Given the description of an element on the screen output the (x, y) to click on. 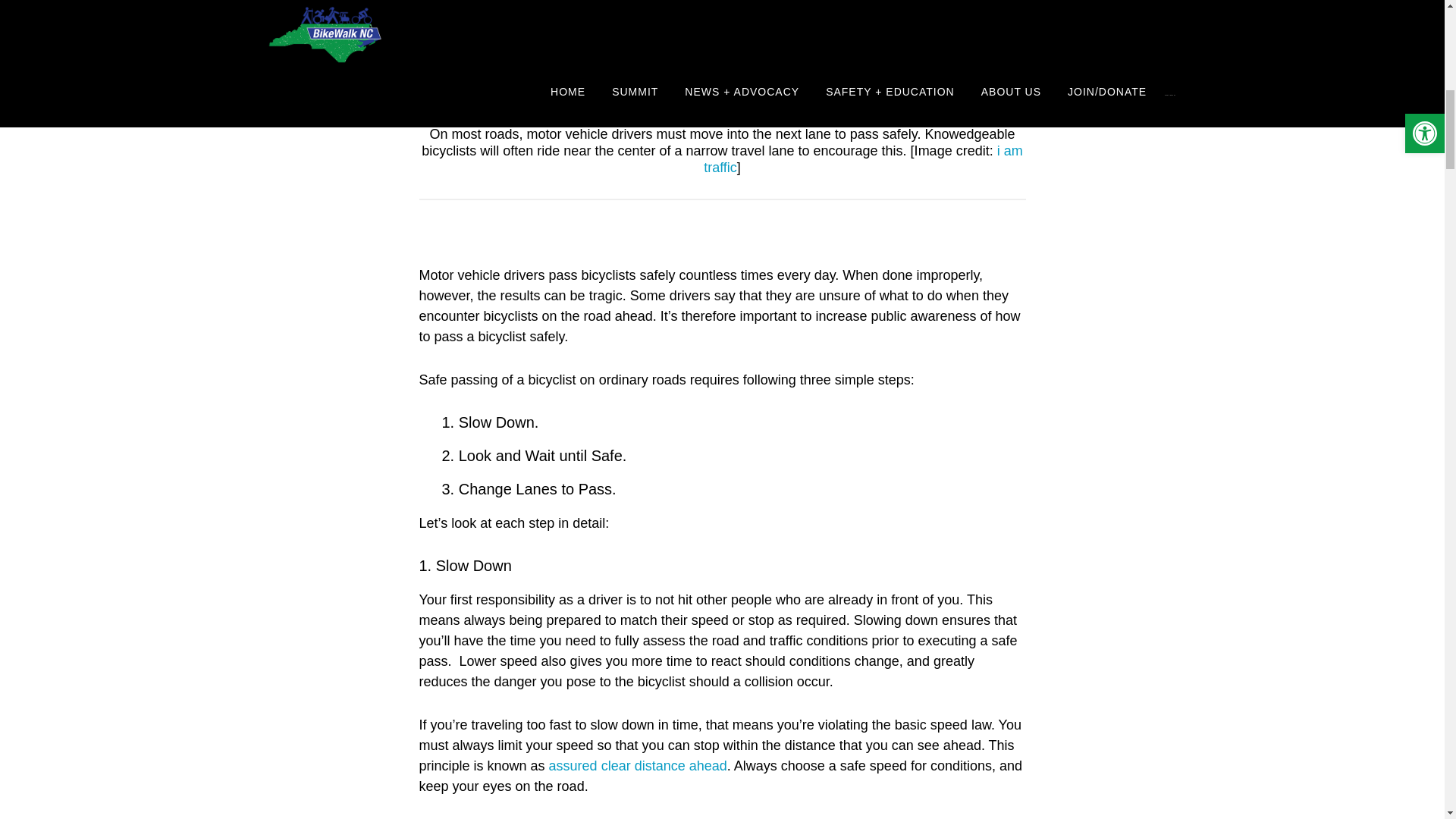
assured clear distance ahead (637, 765)
i am traffic (863, 159)
